Given the description of an element on the screen output the (x, y) to click on. 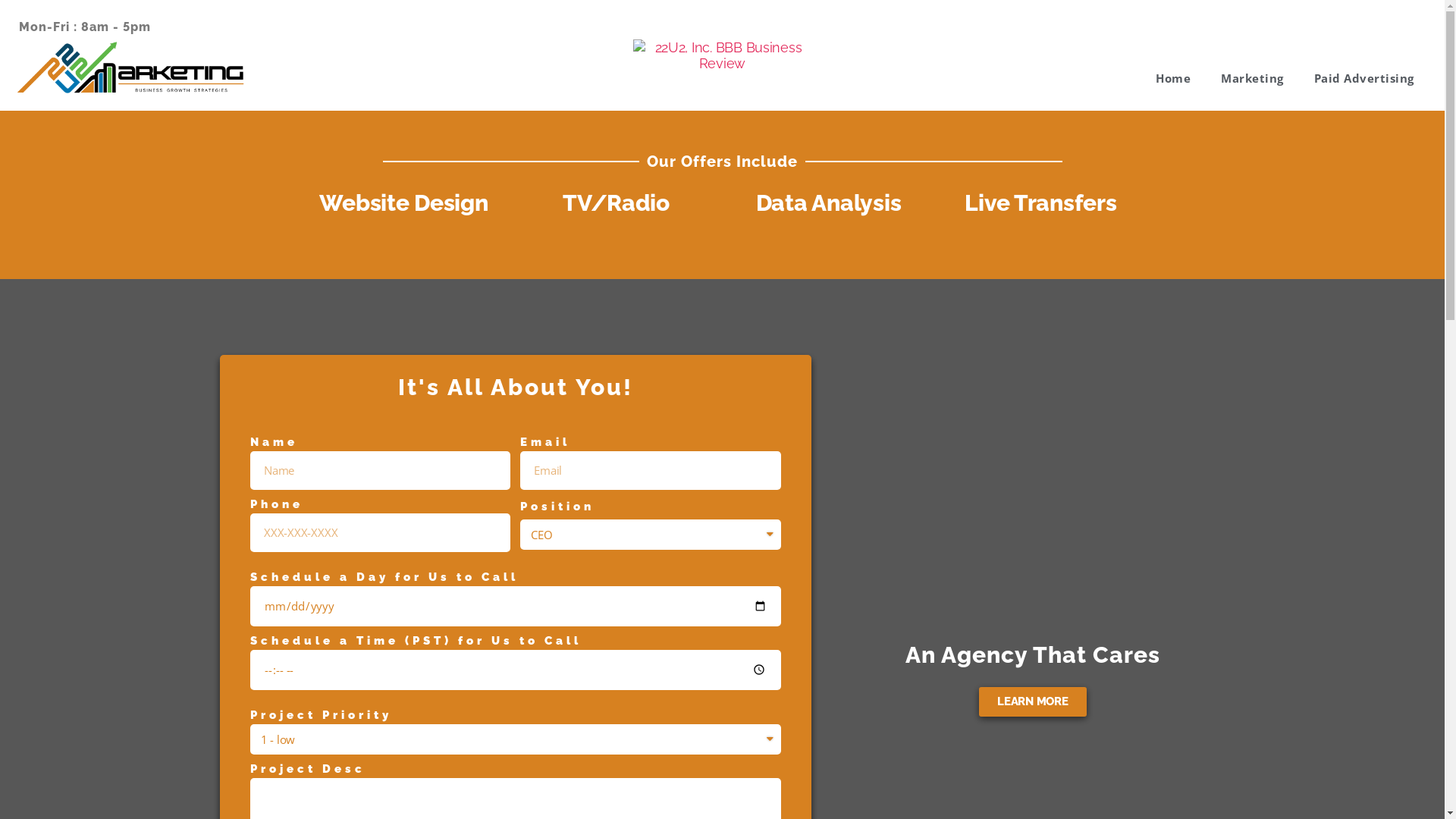
Paid Advertising Element type: text (1364, 77)
Home Element type: text (1172, 77)
Mon-Fri : 8am - 5pm Element type: text (84, 26)
Marketing Element type: text (1252, 77)
LEARN MORE Element type: text (1032, 701)
